Given the description of an element on the screen output the (x, y) to click on. 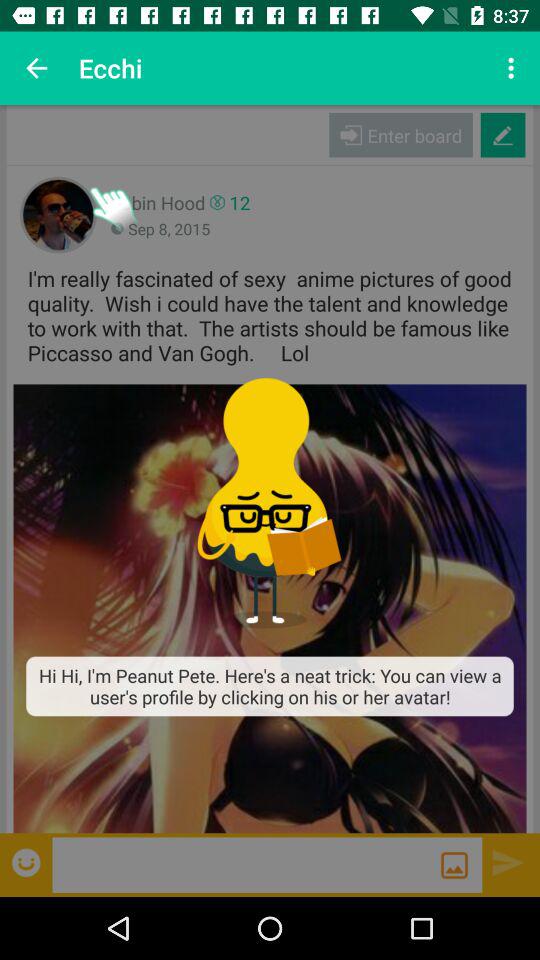
add image (454, 865)
